Given the description of an element on the screen output the (x, y) to click on. 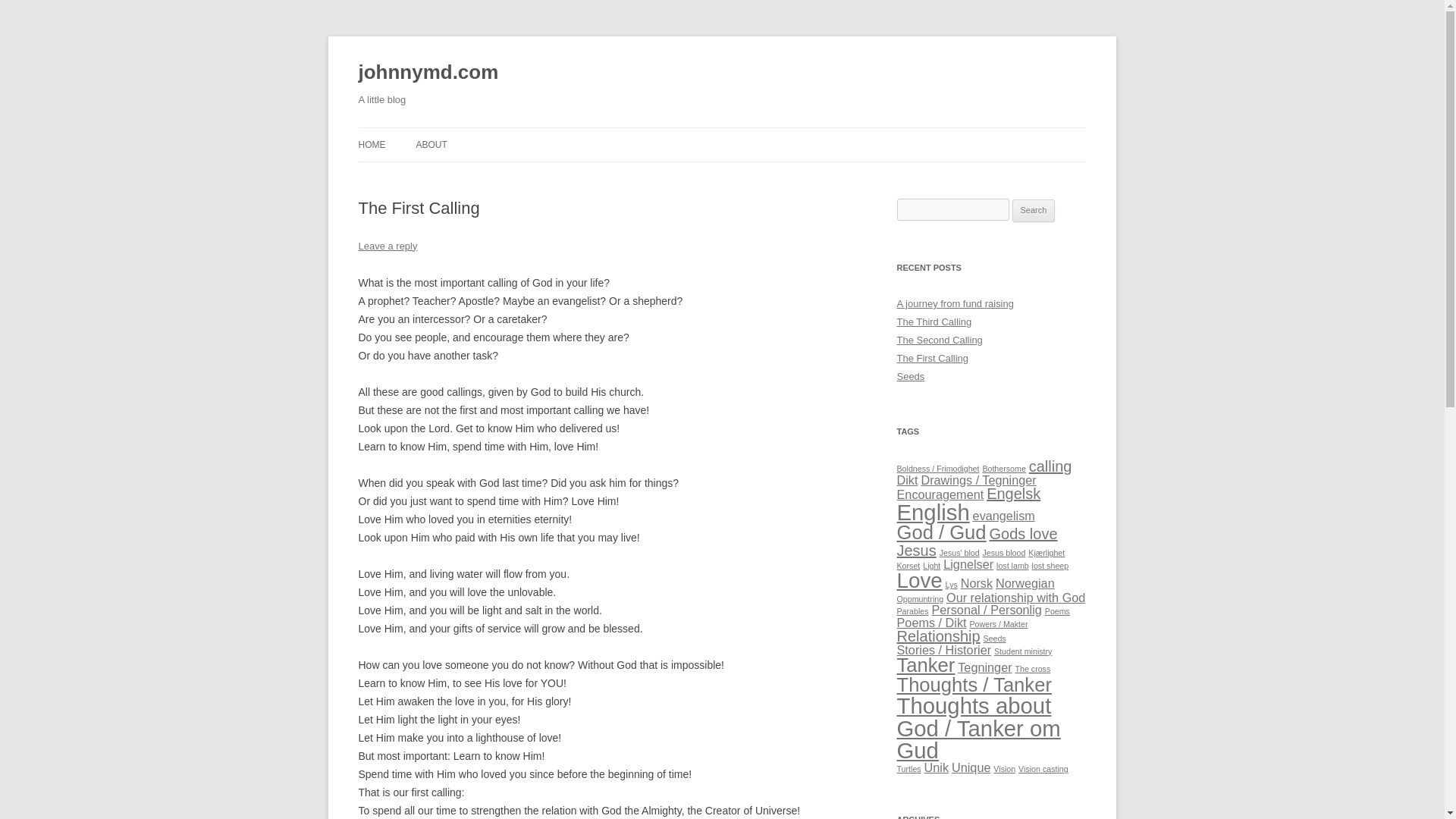
The First Calling (932, 357)
Bothersome (1003, 468)
Search (1033, 210)
Leave a reply (387, 245)
Engelsk (1014, 493)
Dikt (906, 479)
johnnymd.com (427, 72)
The Third Calling (933, 321)
